Given the description of an element on the screen output the (x, y) to click on. 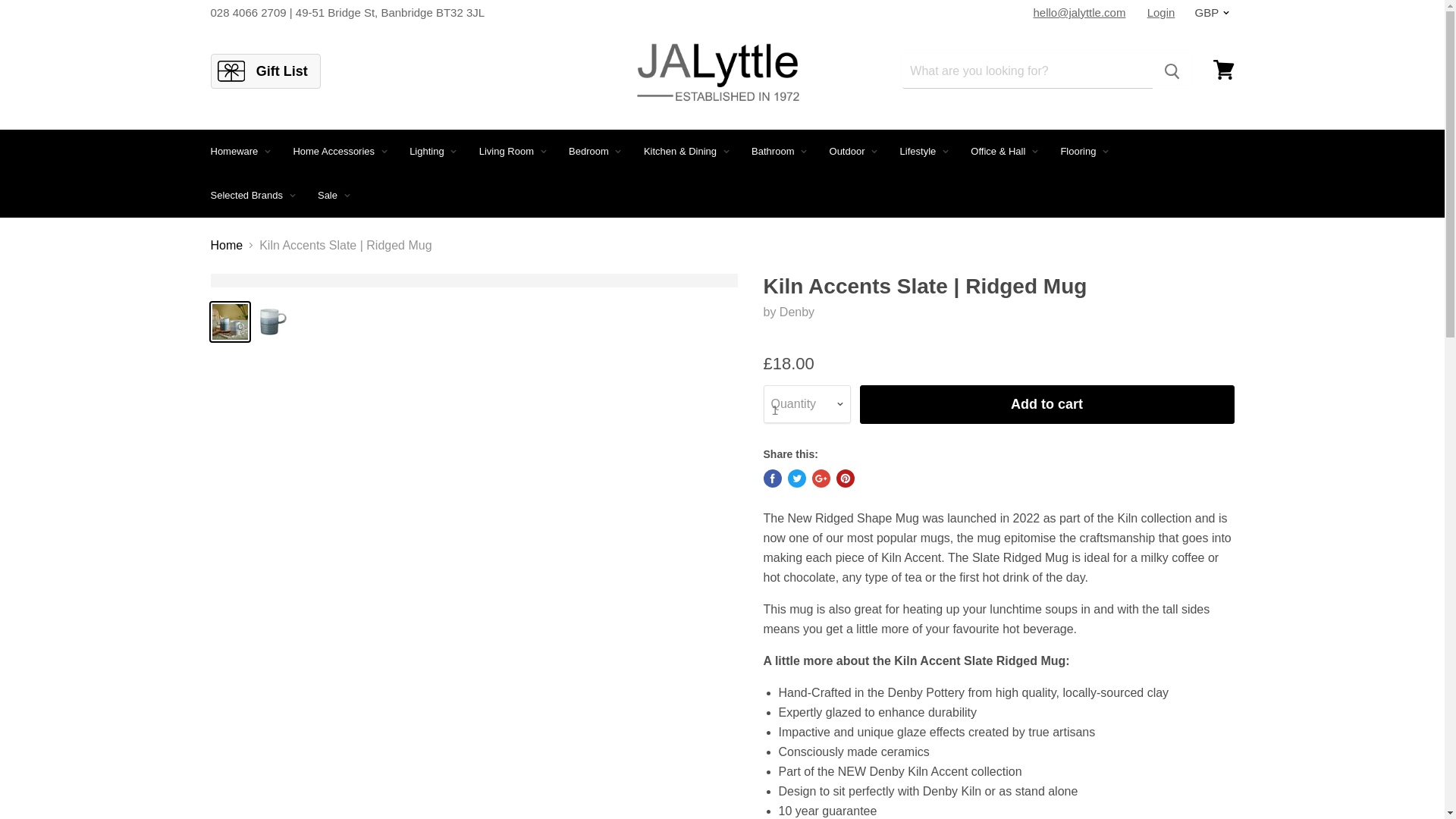
Gift List (265, 71)
View cart (1223, 69)
Login (1161, 11)
Homeware (238, 151)
